Given the description of an element on the screen output the (x, y) to click on. 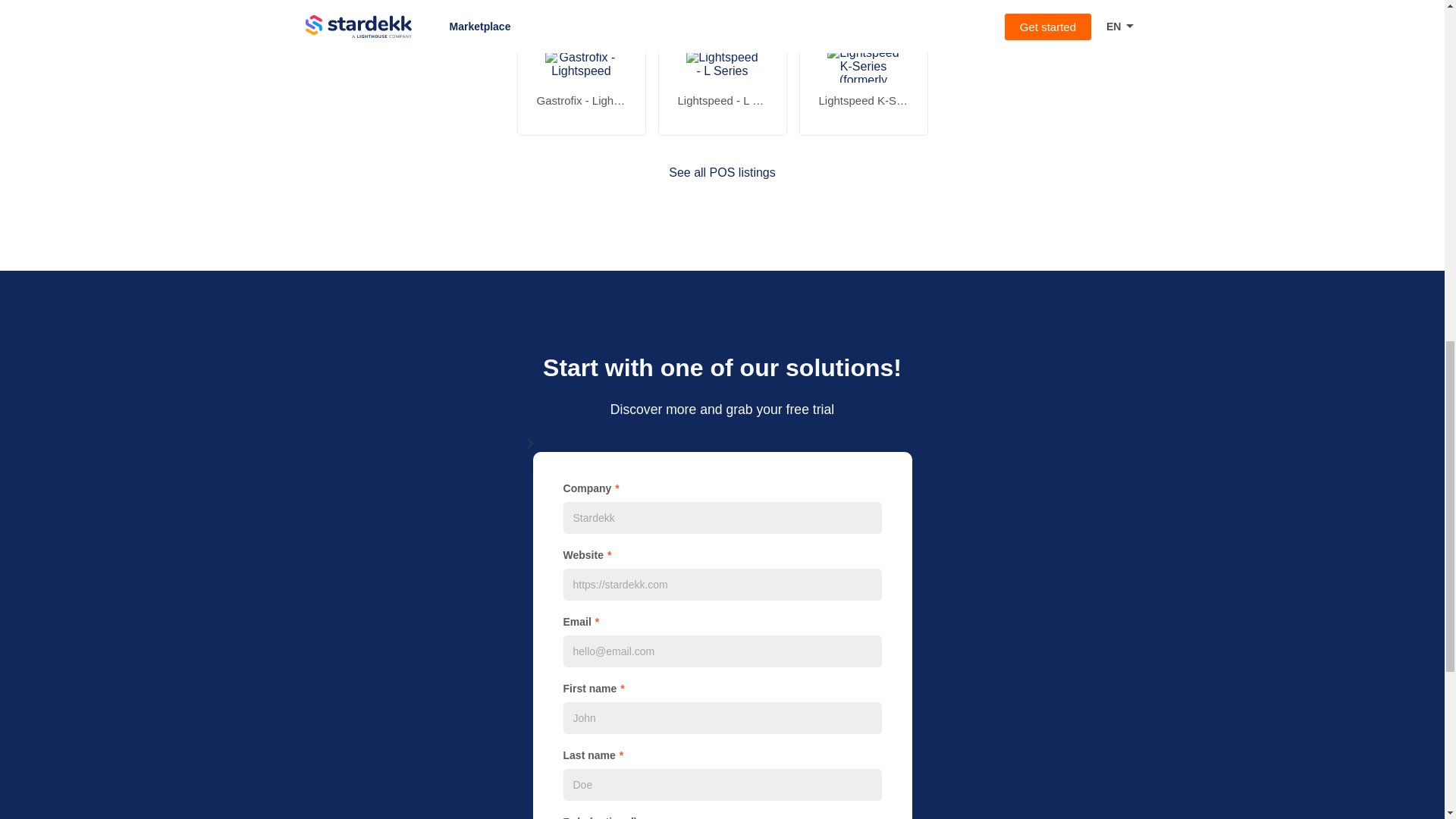
Lightspeed - L Series (722, 100)
Lightspeed - L Series (722, 80)
Gastrofix - Lightspeed (581, 100)
Gastrofix - Lightspeed (581, 80)
See all POS listings (721, 172)
